Given the description of an element on the screen output the (x, y) to click on. 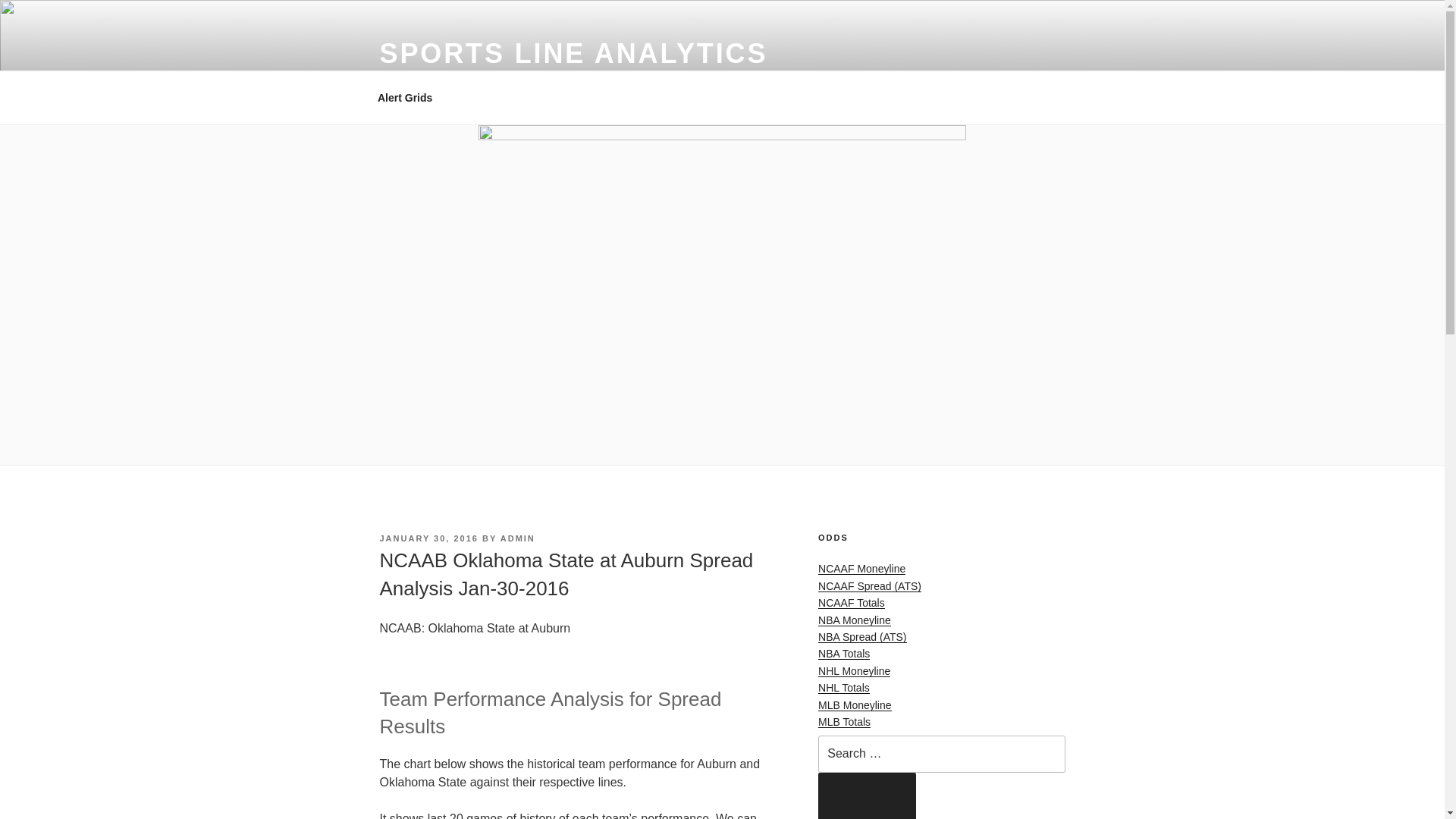
JANUARY 30, 2016 (427, 537)
MLB Totals (844, 721)
Search (866, 796)
ADMIN (517, 537)
NHL Moneyline (853, 671)
NBA Totals (843, 653)
NCAAF Moneyline (861, 568)
NCAAF Totals (851, 603)
SPORTS LINE ANALYTICS (572, 52)
MLB Moneyline (854, 705)
